Given the description of an element on the screen output the (x, y) to click on. 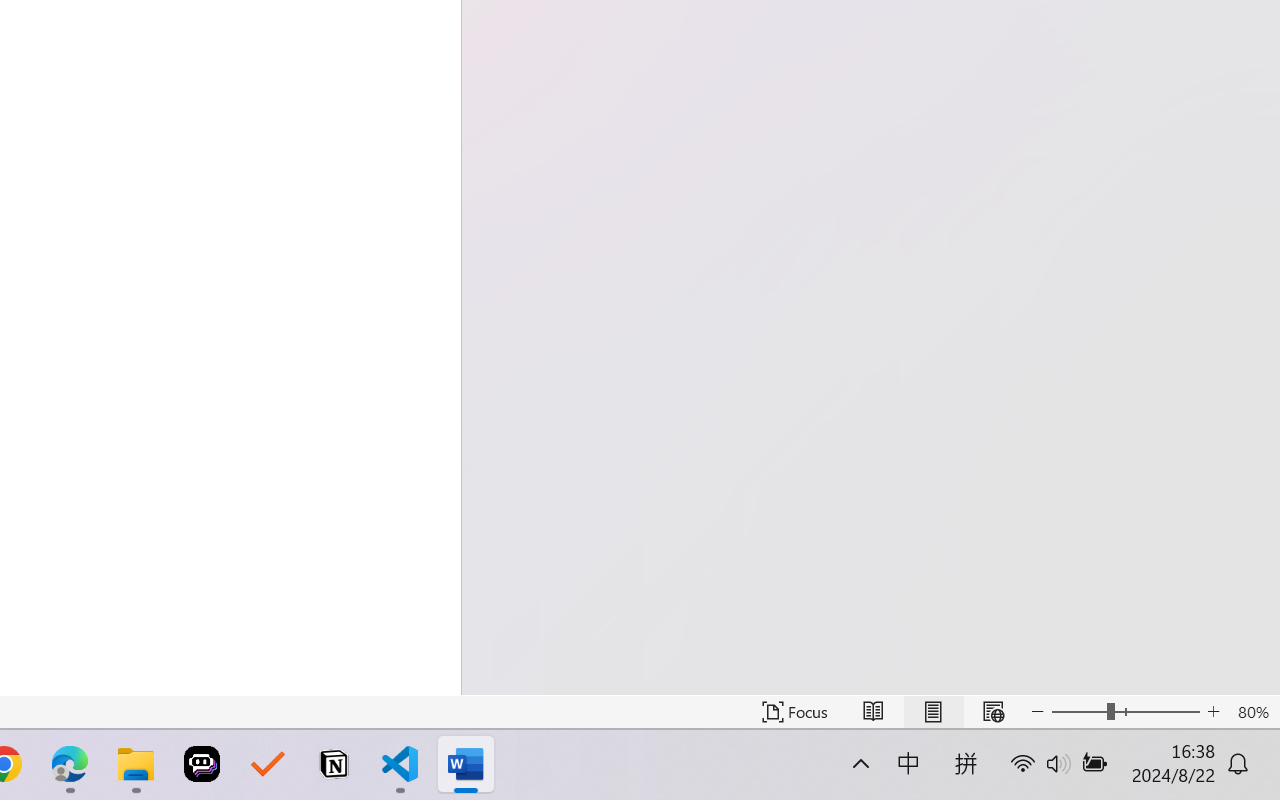
Zoom 80% (1253, 712)
